Given the description of an element on the screen output the (x, y) to click on. 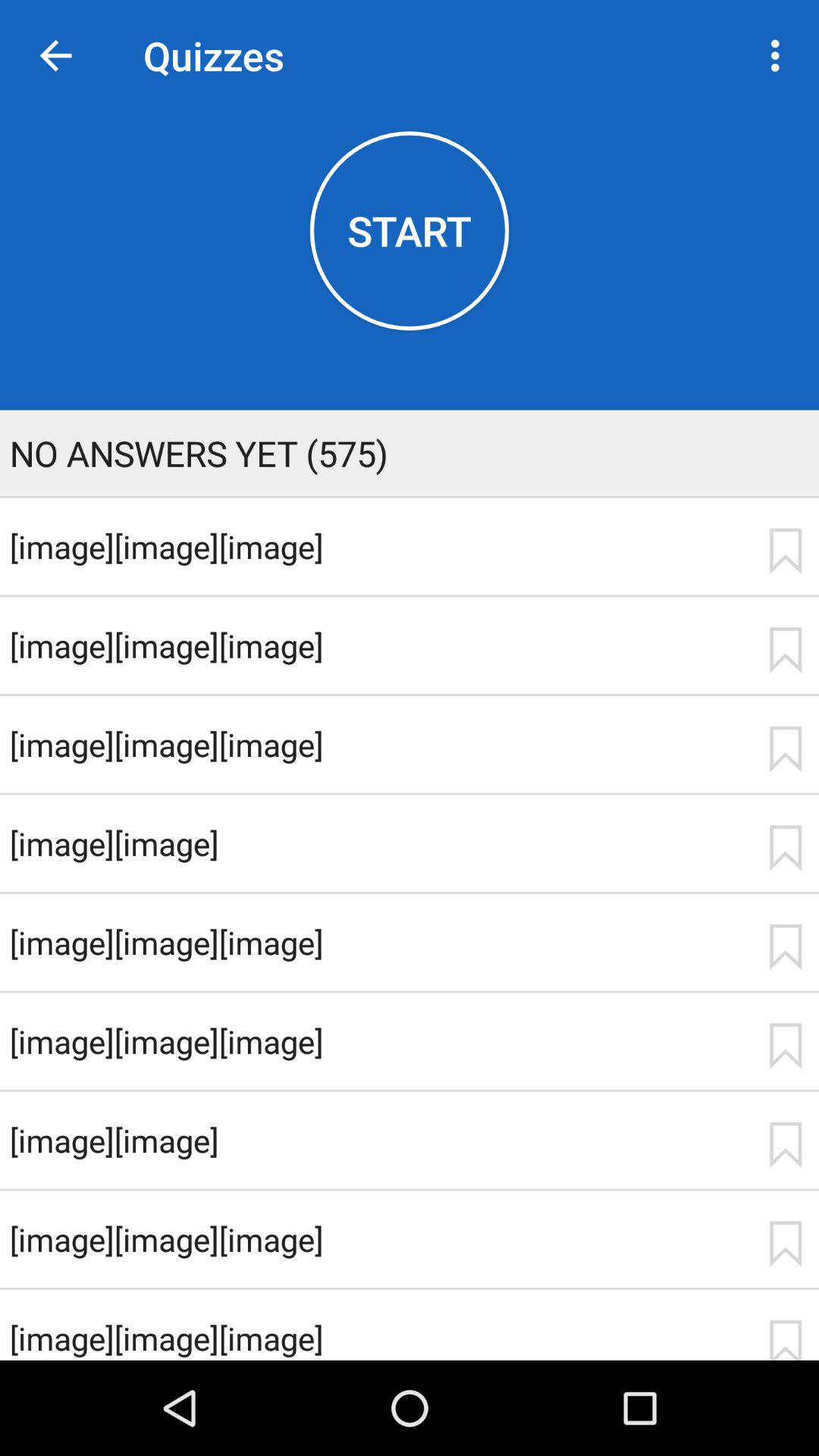
like (784, 1046)
